Given the description of an element on the screen output the (x, y) to click on. 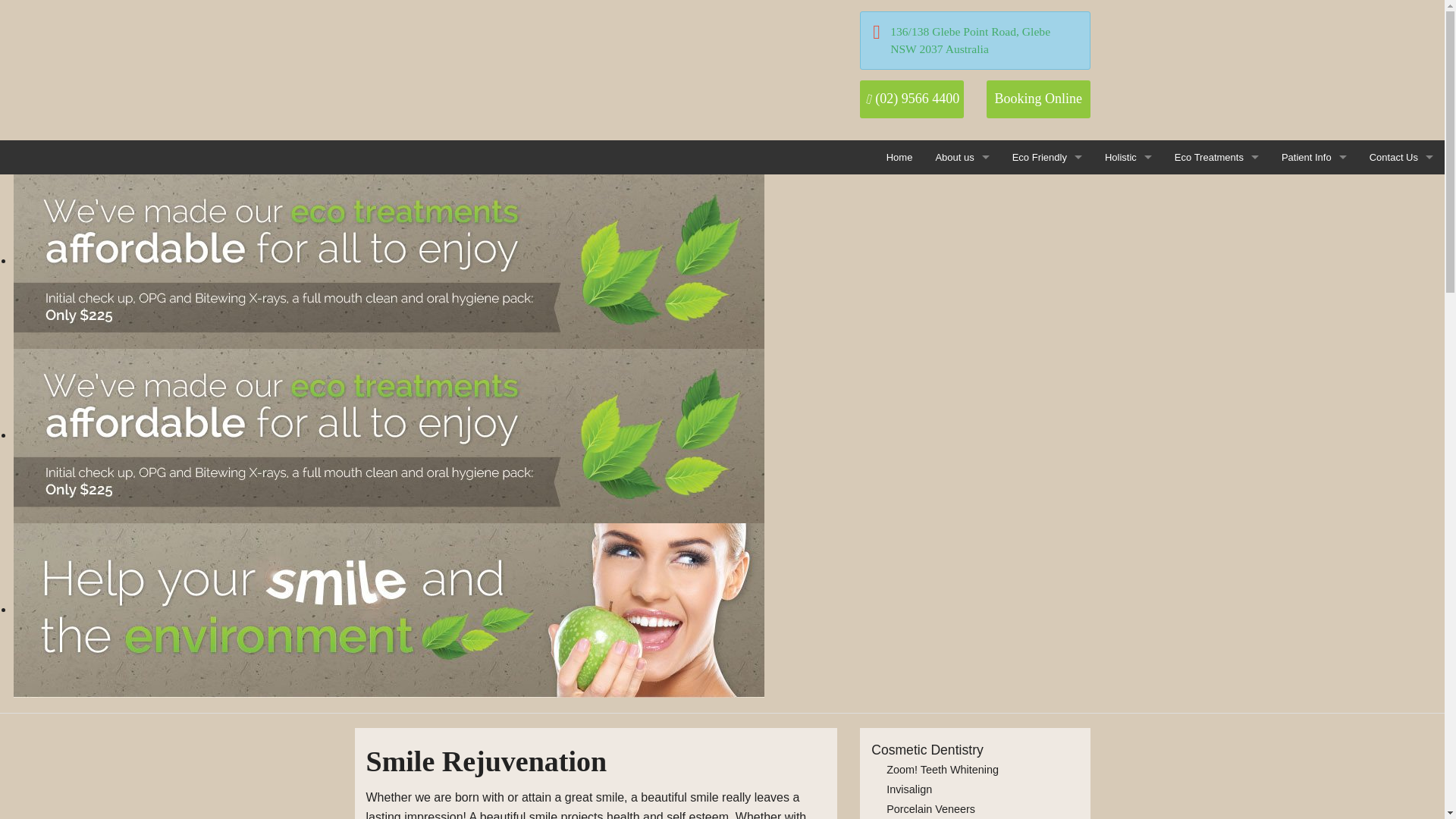
General Dentistry (1216, 191)
Home (899, 157)
Booking Online (1038, 98)
ECO Dental (435, 49)
Gum Disease and Health (1128, 396)
ECO Dental (435, 49)
Sleeping and Breathing (1128, 361)
Eco Waste (1047, 225)
Dental Hygienist (1110, 259)
Holistic (1128, 157)
Nutrition (1128, 225)
Eco Treatments (1216, 157)
Our People (961, 191)
Eco Kids (1110, 225)
Reducing Stress (1128, 327)
